Given the description of an element on the screen output the (x, y) to click on. 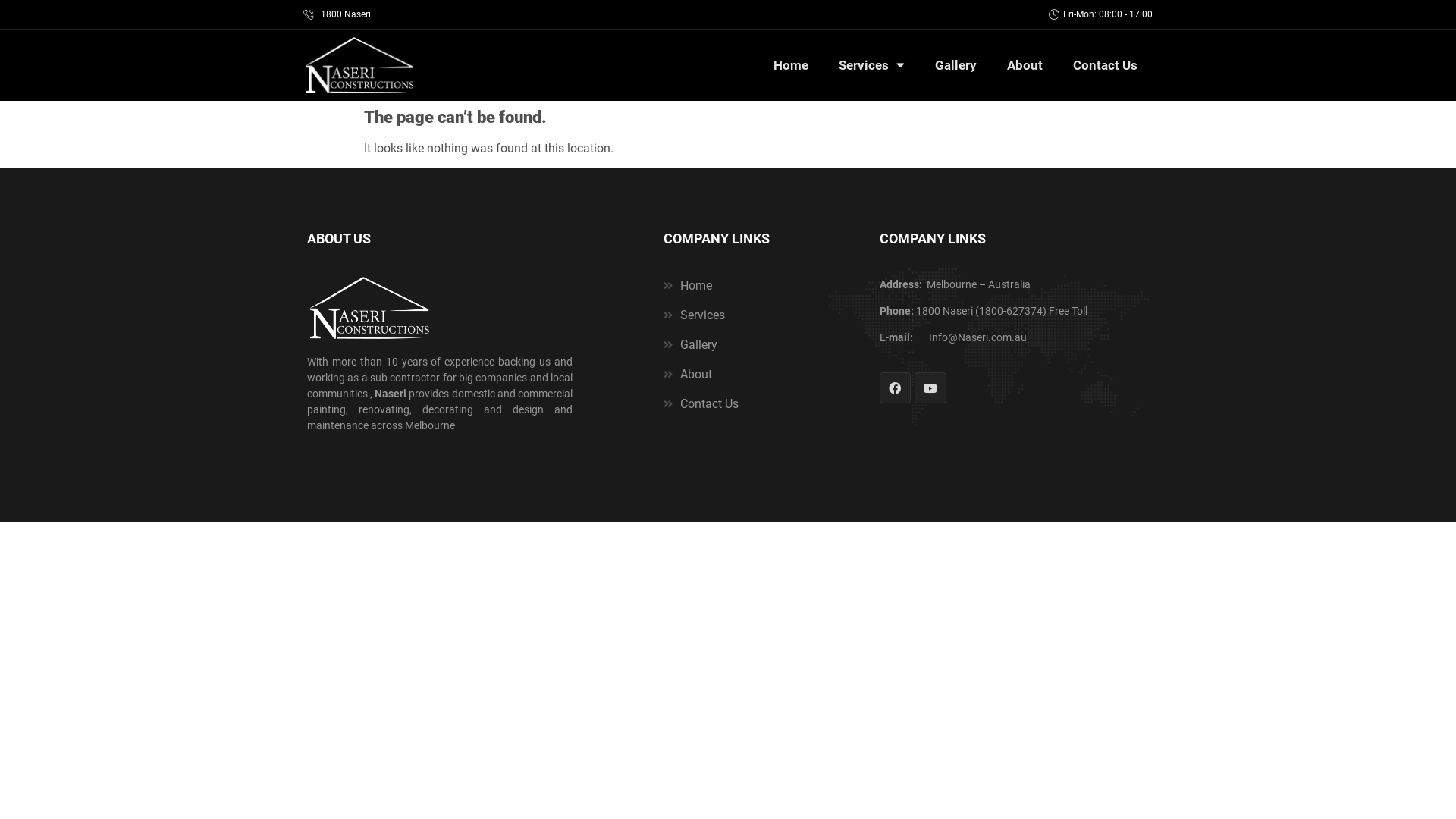
Home Element type: text (790, 64)
1800 Naseri Element type: text (439, 14)
Contact Us Element type: text (759, 404)
Services Element type: text (871, 64)
Home Element type: text (759, 285)
Gallery Element type: text (759, 344)
About Element type: text (1024, 64)
Gallery Element type: text (955, 64)
Contact Us Element type: text (1104, 64)
